Given the description of an element on the screen output the (x, y) to click on. 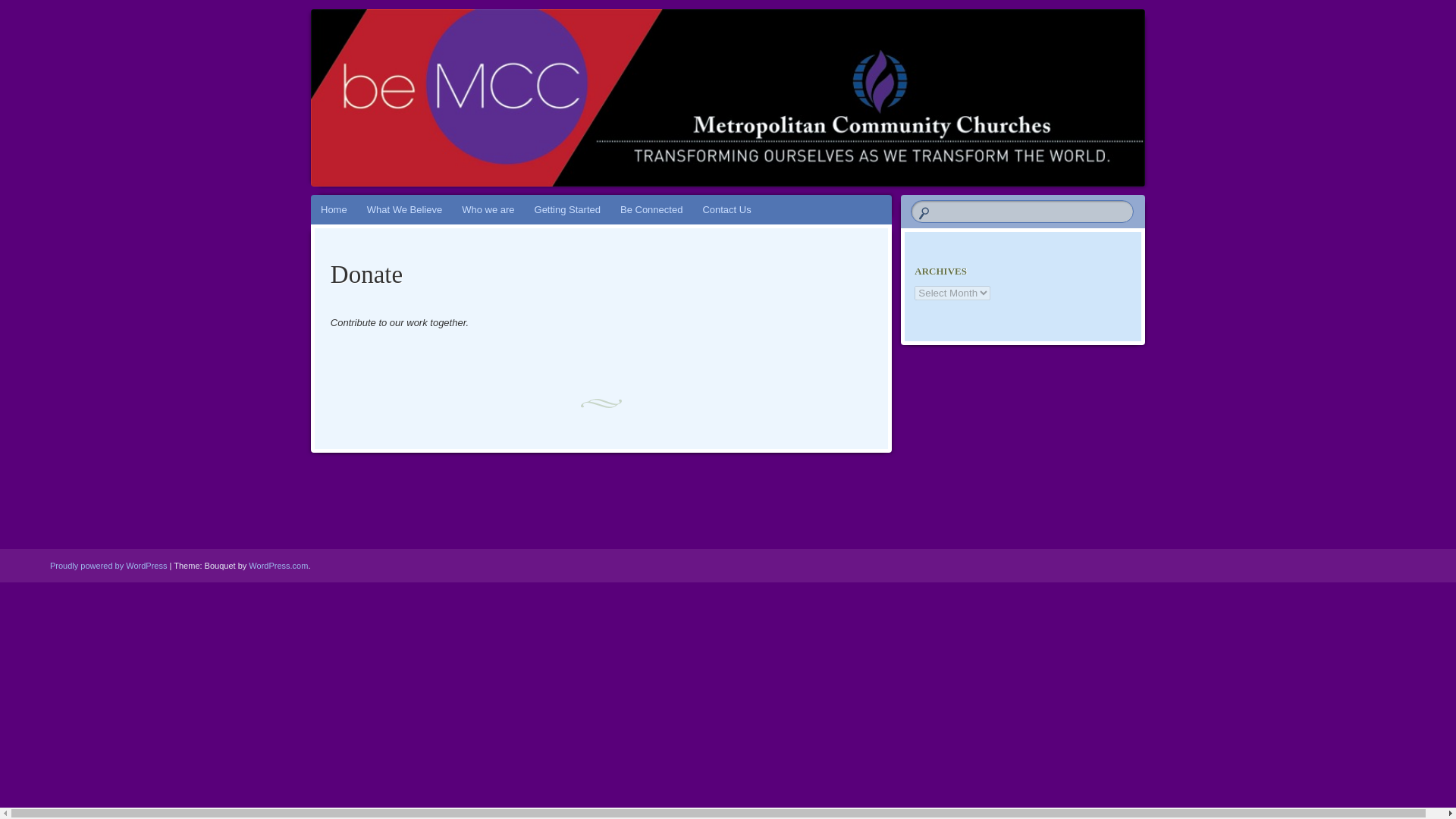
Search (21, 7)
Getting Started (567, 209)
What We Believe (403, 209)
Semantic Personal Publishing Platform (108, 565)
Be Connected (651, 209)
Contact Us (726, 209)
Home (333, 209)
Proudly powered by WordPress (108, 565)
WordPress.com (277, 565)
Who we are (487, 209)
